Given the description of an element on the screen output the (x, y) to click on. 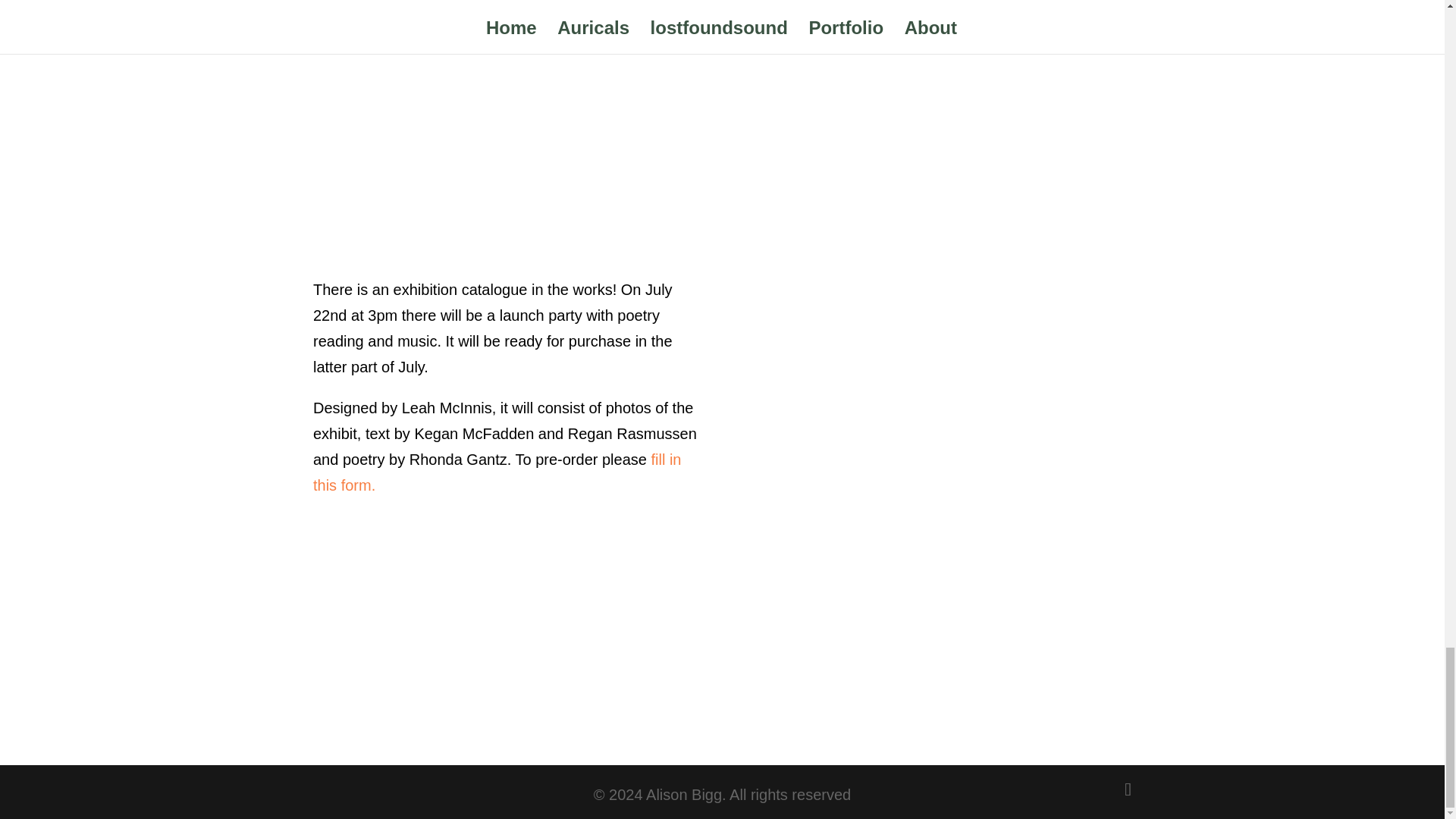
fill in this form. (497, 472)
